Given the description of an element on the screen output the (x, y) to click on. 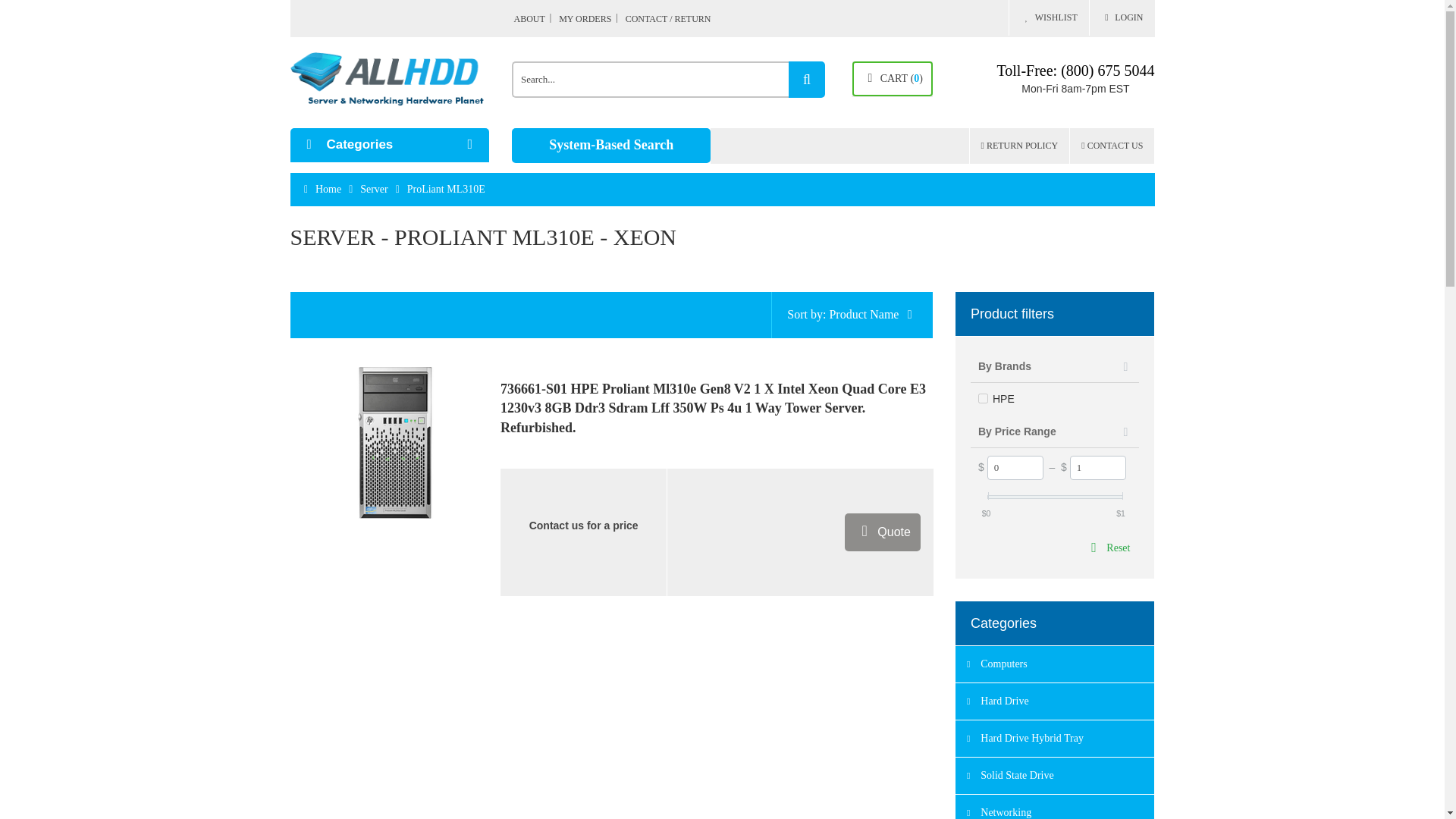
LOGIN (1121, 18)
0 (1015, 467)
MY ORDERS (591, 18)
HPE 736661-S01 Xeon Server ProLiant ML310E (394, 442)
WISHLIST (1048, 18)
279 (983, 398)
1 (1097, 467)
ABOUT (534, 18)
